Given the description of an element on the screen output the (x, y) to click on. 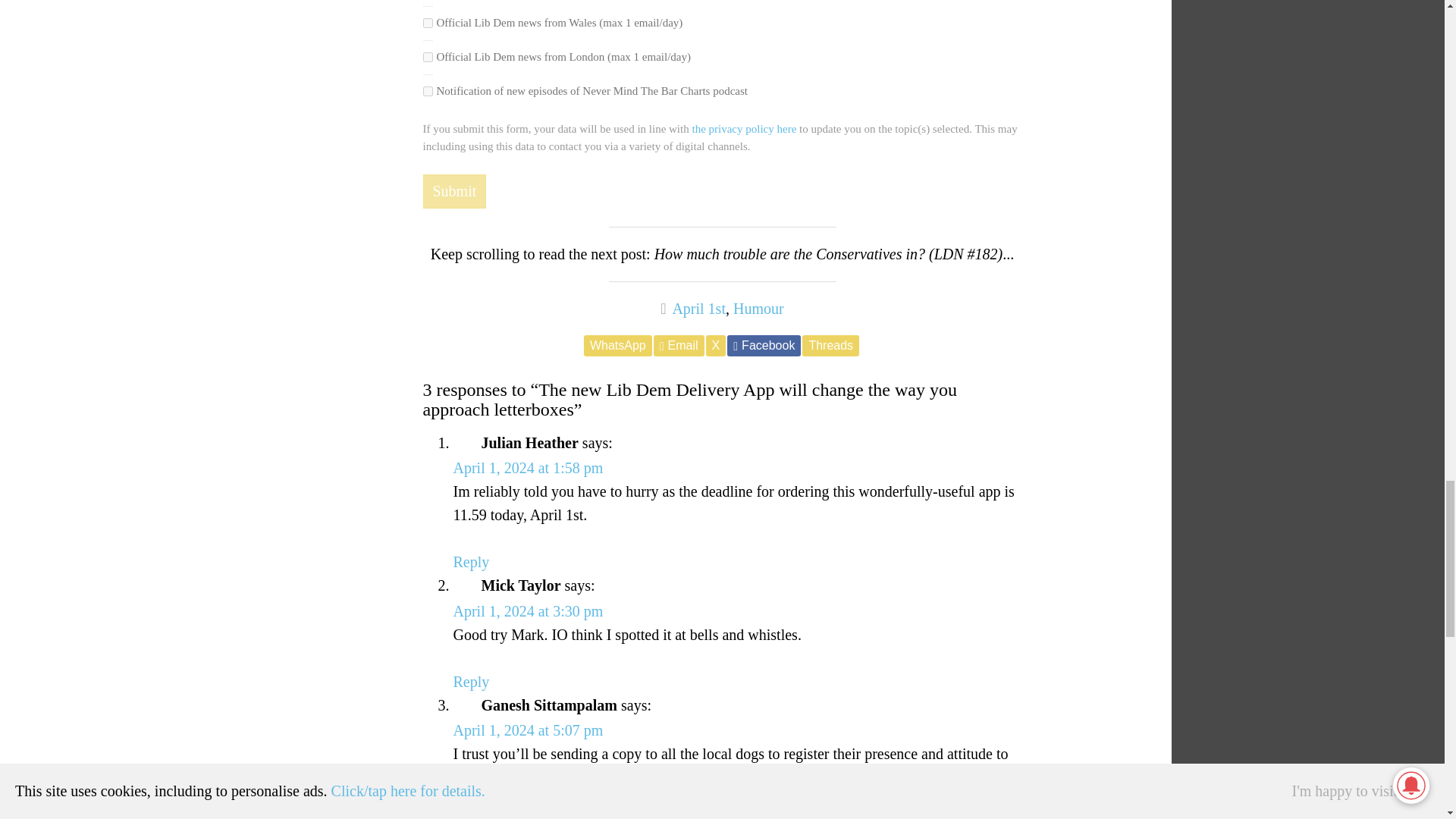
Reply (470, 817)
Click to email a link to a friend (678, 343)
Click to share on Facebook (763, 343)
Submit (454, 191)
Threads (830, 343)
April 1st (698, 308)
scot (427, 2)
Reply (470, 681)
london (427, 57)
WhatsApp (617, 343)
nmtbc (427, 91)
X (716, 343)
the privacy policy here (743, 128)
Click to share on X (716, 343)
Reply (470, 561)
